Given the description of an element on the screen output the (x, y) to click on. 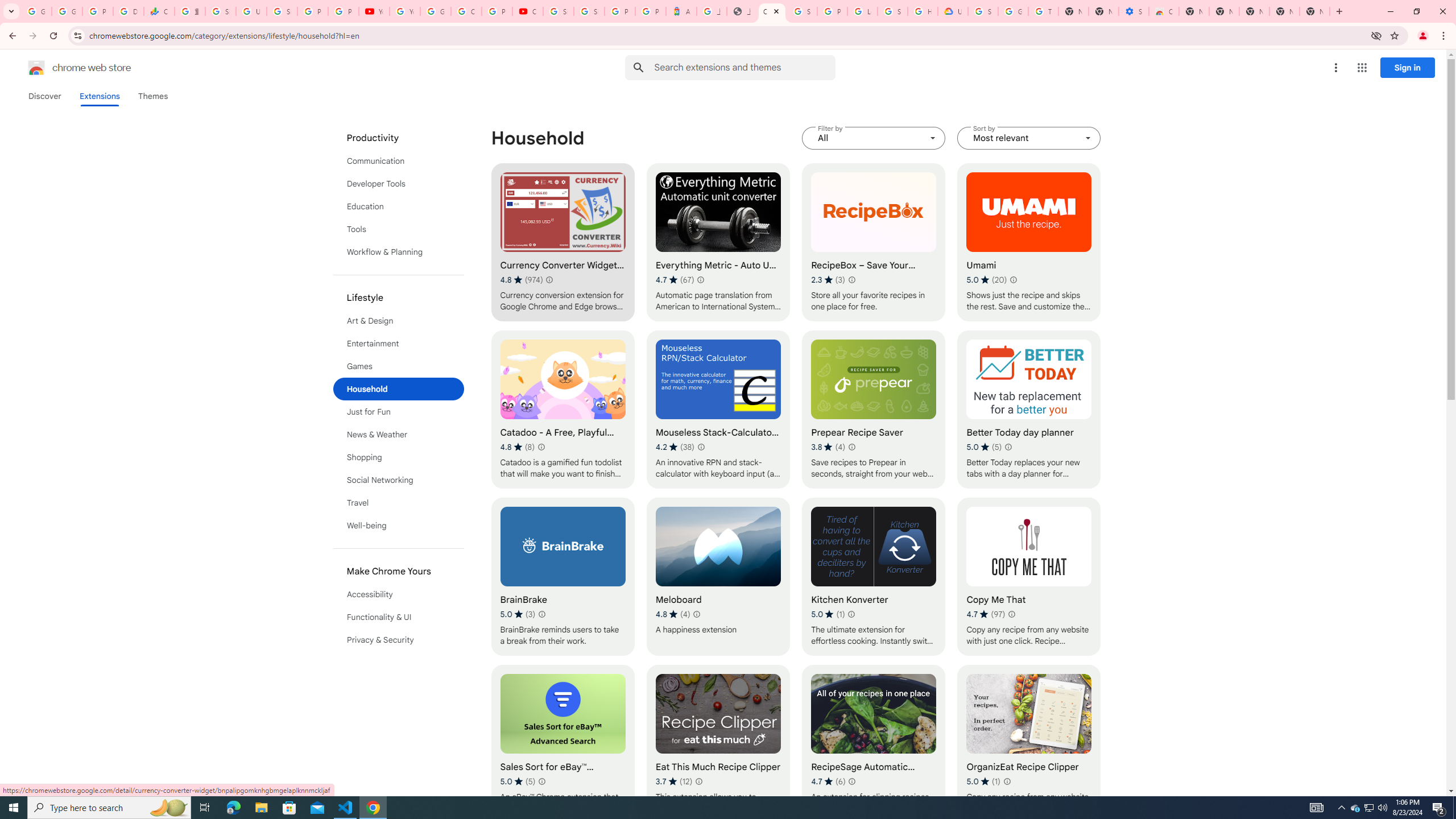
YouTube (373, 11)
Sign in - Google Accounts (589, 11)
Settings - Accessibility (1133, 11)
Catadoo - A Free, Playful and Fun Todolist! (562, 409)
Entertainment (398, 343)
Sign in - Google Accounts (801, 11)
Average rating 2.3 out of 5 stars. 3 ratings. (827, 279)
Social Networking (398, 479)
News & Weather (398, 434)
Turn cookies on or off - Computer - Google Account Help (1042, 11)
